Given the description of an element on the screen output the (x, y) to click on. 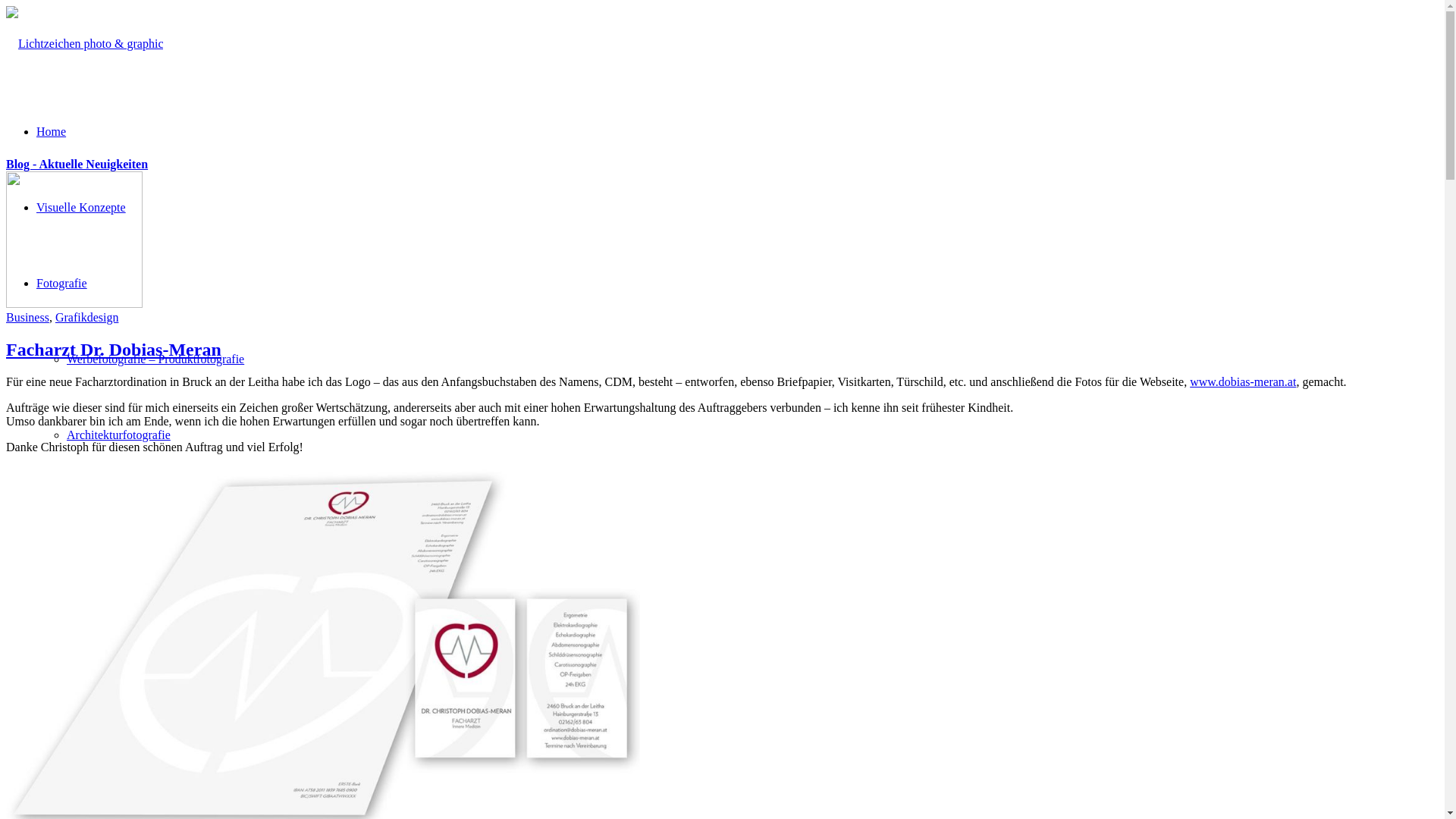
Fotografie Element type: text (61, 282)
Grafikdesign Element type: text (68, 737)
Grafikdesign Element type: text (87, 316)
Visuelle Konzepte Element type: text (80, 206)
LPG_7355_w-72dpi-1024x683 Element type: hover (74, 303)
Blog - Aktuelle Neuigkeiten Element type: text (76, 163)
Architekturfotografie Element type: text (118, 434)
Home Element type: text (50, 131)
Oldtimerfotografie Element type: text (112, 586)
Portraitfotografie Element type: text (108, 510)
Business Element type: text (27, 316)
Facharzt Dr. Dobias-Meran Element type: text (113, 349)
www.dobias-meran.at Element type: text (1242, 381)
USP-Fotografie Element type: text (74, 661)
